Given the description of an element on the screen output the (x, y) to click on. 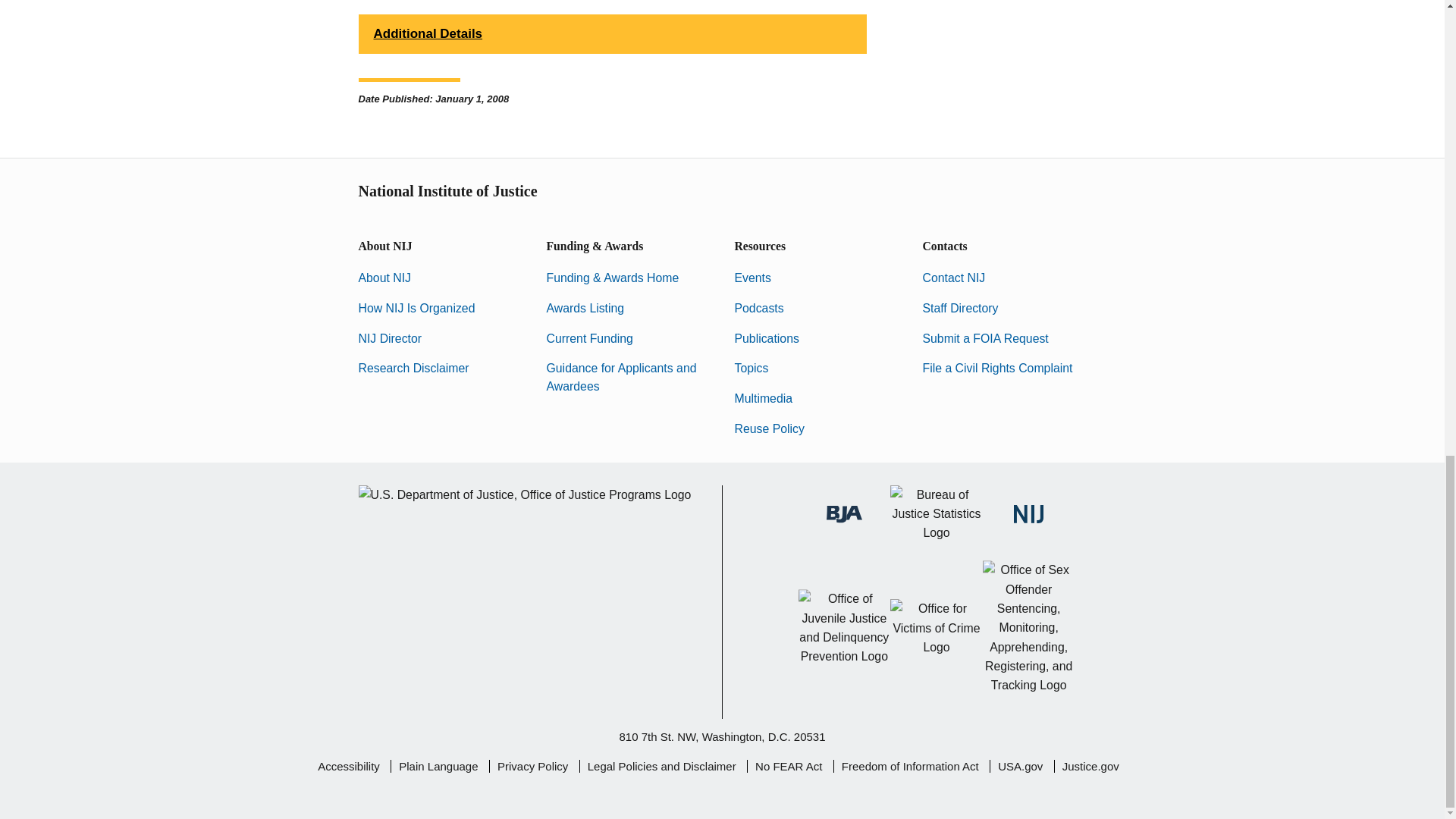
Additional Details (612, 34)
